Given the description of an element on the screen output the (x, y) to click on. 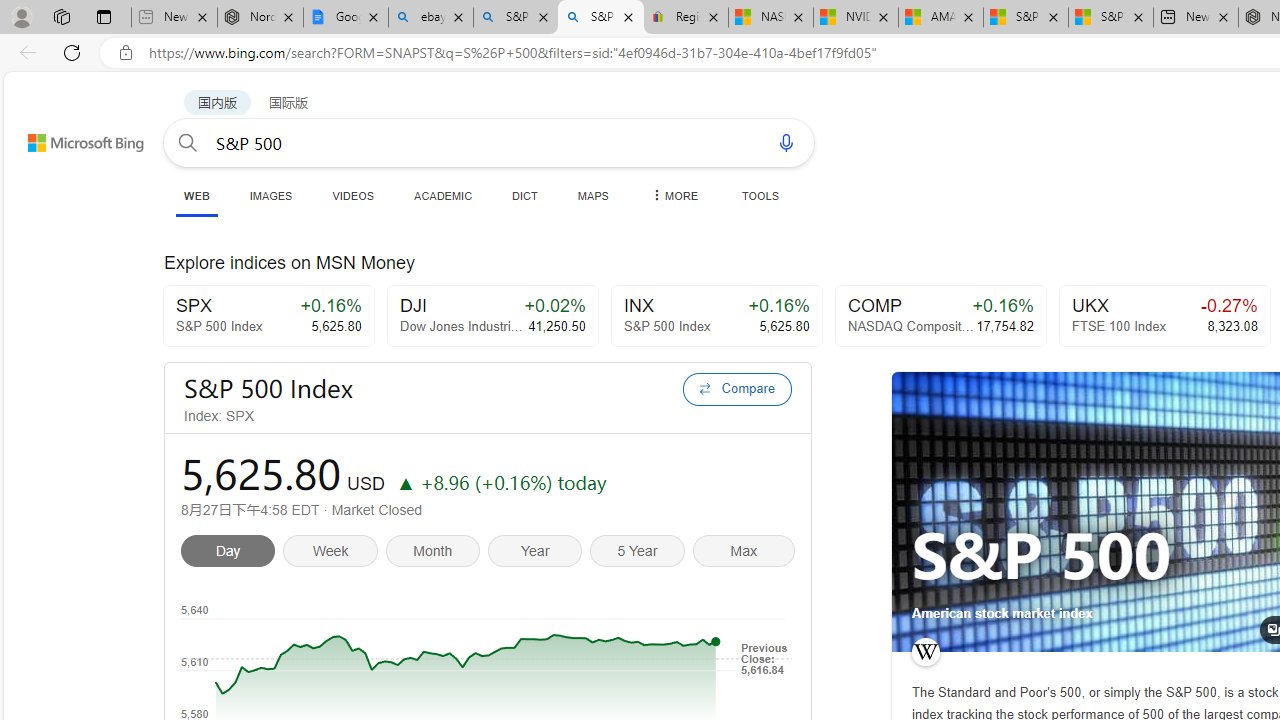
MAPS (592, 195)
MORE (673, 195)
Wikipedia (925, 651)
ACADEMIC (443, 195)
Index: SPX (427, 416)
5 Year (641, 553)
IMAGES (270, 195)
VIDEOS (352, 195)
Search using voice (785, 142)
UKX-0.27%FTSE 100 Index8,323.08 (1164, 315)
Price increase (405, 482)
SPX+0.16%S&P 500 Index5,625.80 (268, 315)
